Given the description of an element on the screen output the (x, y) to click on. 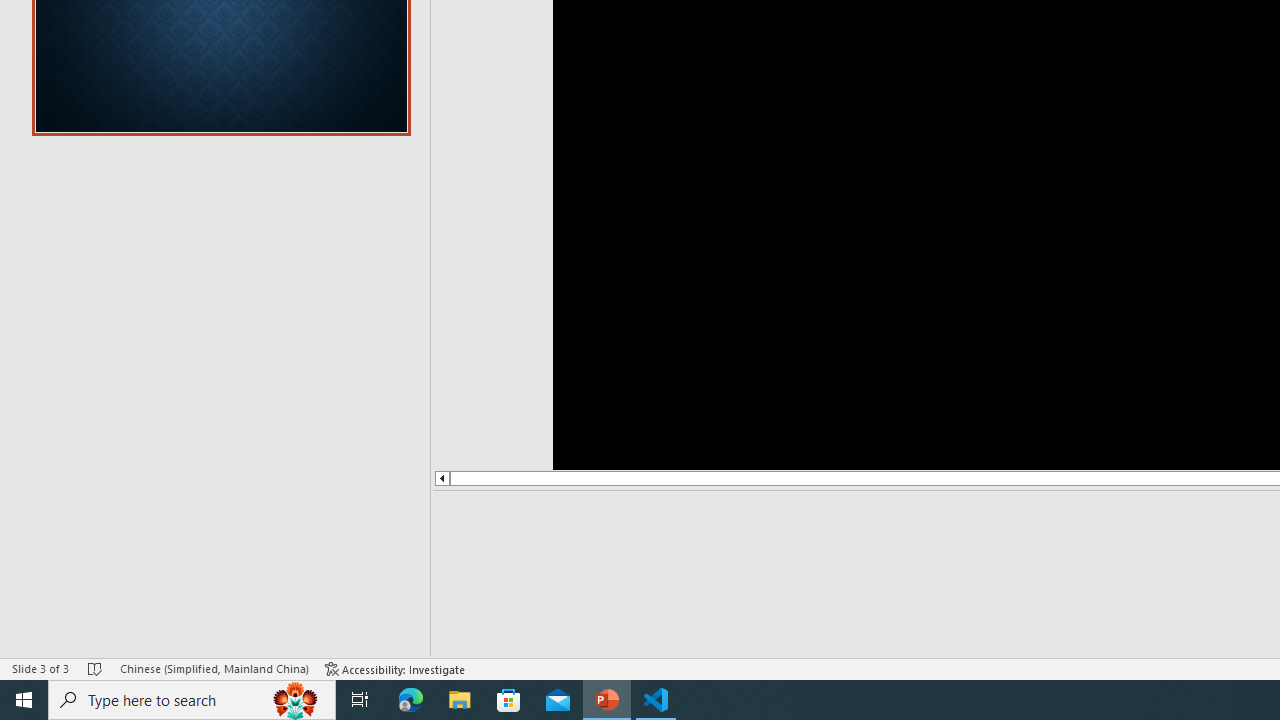
Line up (441, 478)
